Given the description of an element on the screen output the (x, y) to click on. 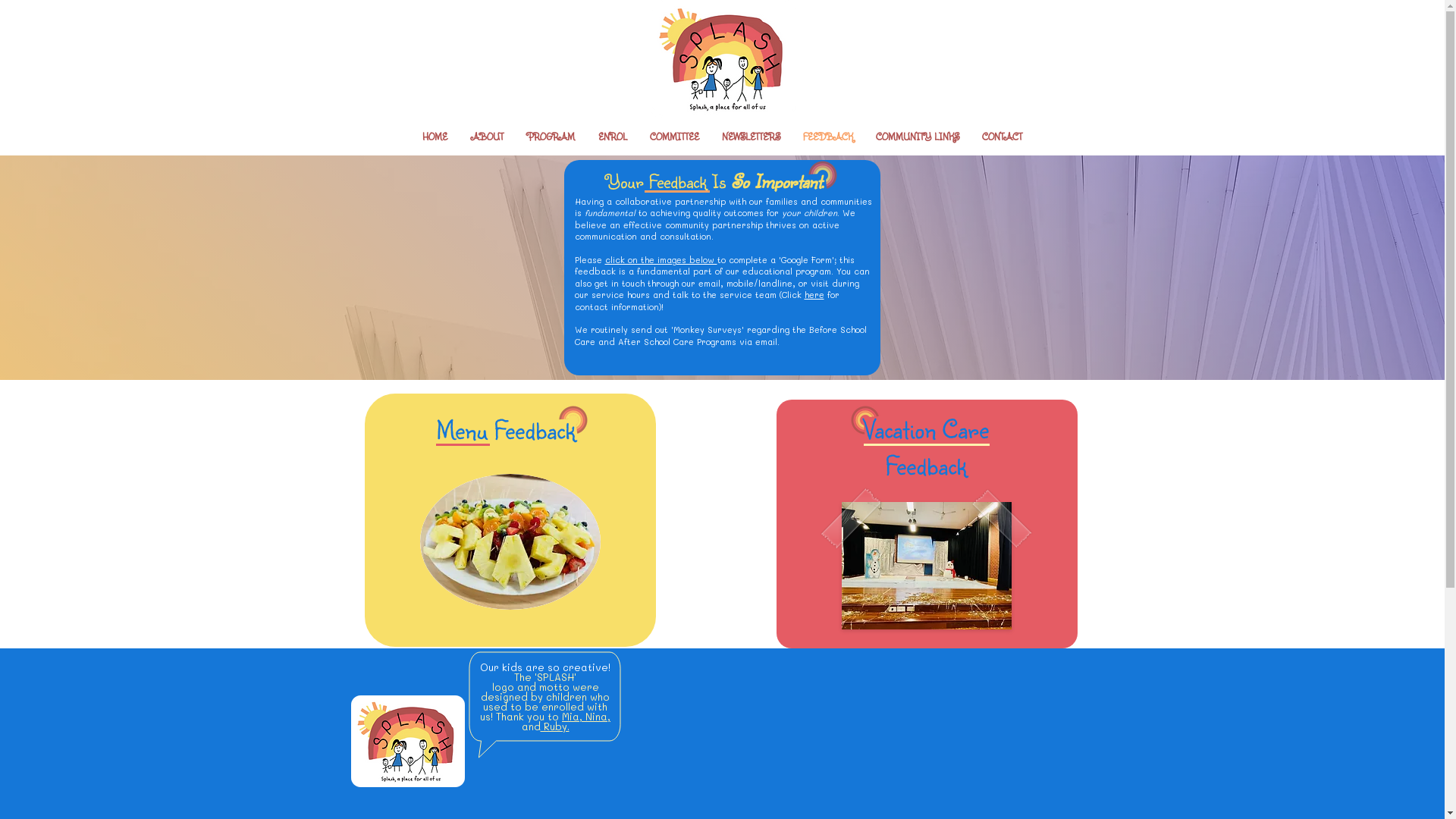
COMMITTEE Element type: text (674, 136)
here Element type: text (813, 294)
ENROL Element type: text (612, 136)
CONTACT Element type: text (1001, 136)
FEEDBACK Element type: text (827, 136)
PROGRAM Element type: text (550, 136)
NEWSLETTERS Element type: text (749, 136)
ABOUT Element type: text (487, 136)
COMMUNITY LINKS Element type: text (917, 136)
  Element type: text (824, 294)
HOME Element type: text (435, 136)
